Given the description of an element on the screen output the (x, y) to click on. 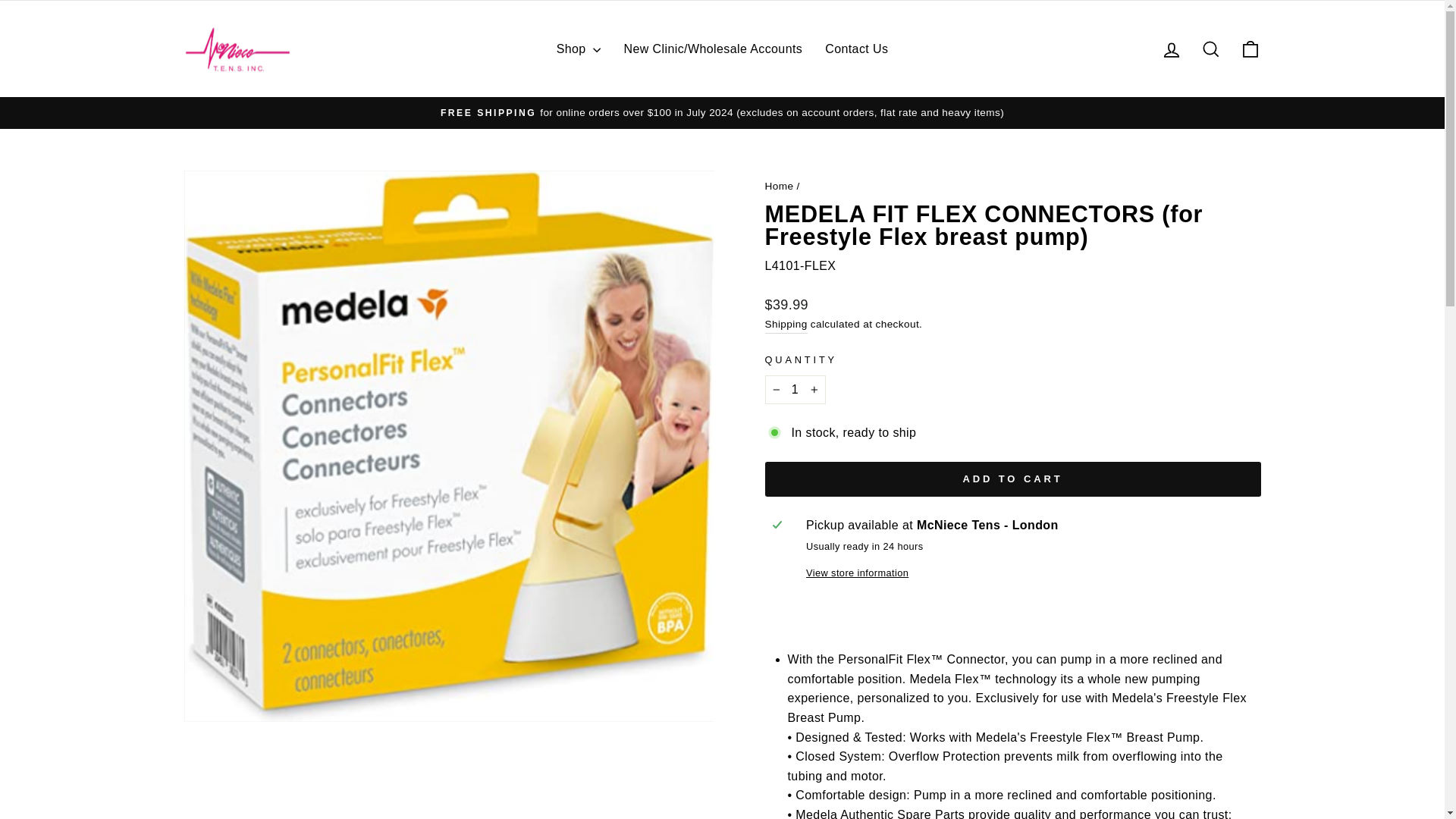
icon-search (1210, 48)
icon-bag-minimal (1249, 48)
1 (794, 389)
account (1170, 49)
Back to the frontpage (778, 185)
